Given the description of an element on the screen output the (x, y) to click on. 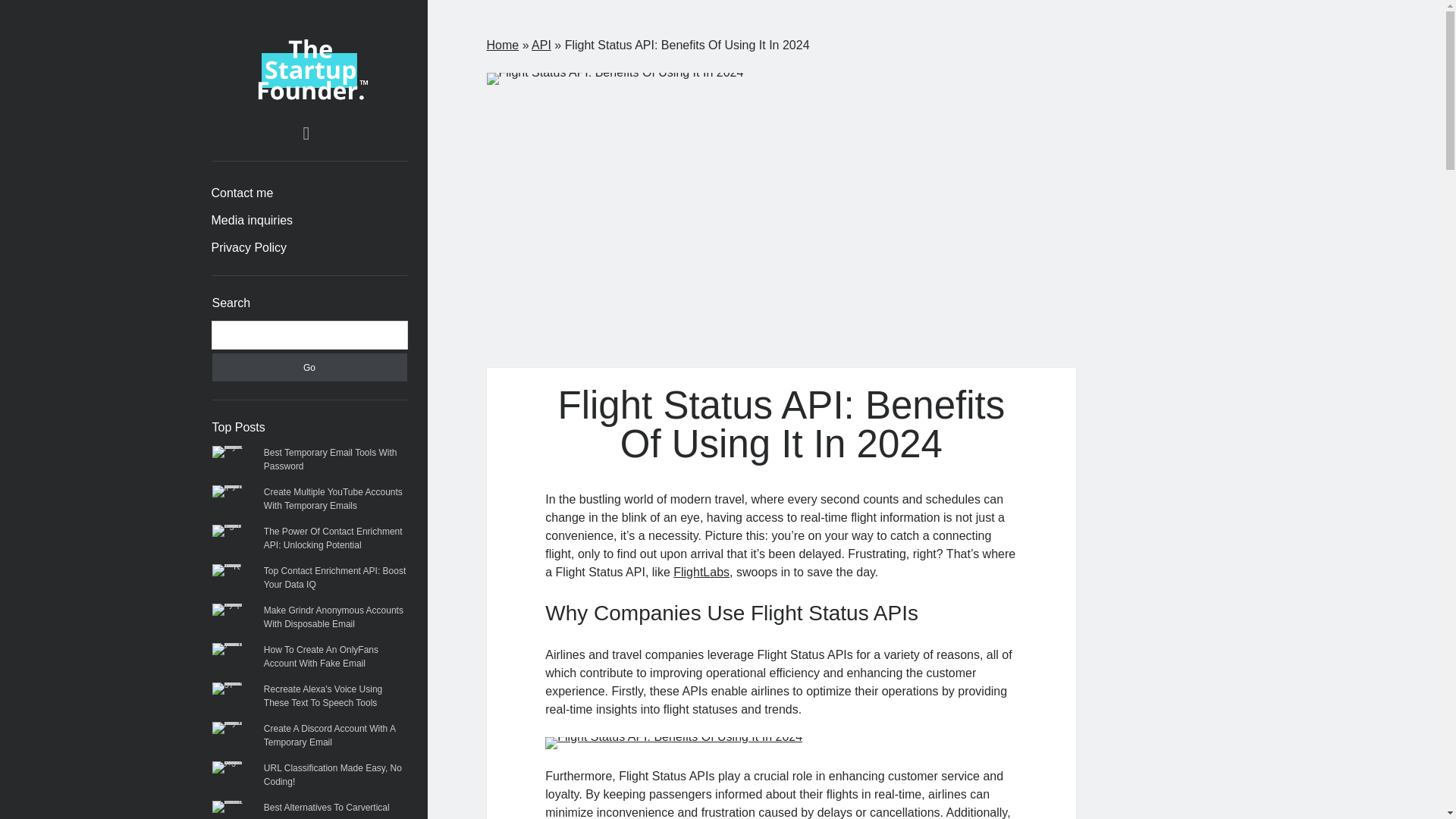
Search for: (309, 334)
The Power Of Contact Enrichment API: Unlocking Potential (333, 538)
Media inquiries (251, 220)
URL Classification Made Easy, No Coding! (332, 774)
Top Contact Enrichment API: Boost Your Data IQ (334, 577)
Top Contact Enrichment API: Boost Your Data IQ (334, 577)
Create A Discord Account With A Temporary Email (328, 735)
Best Temporary Email Tools With Password (330, 459)
Make Grindr Anonymous Accounts With Disposable Email (333, 617)
Best Alternatives To Carvertical (326, 807)
